Given the description of an element on the screen output the (x, y) to click on. 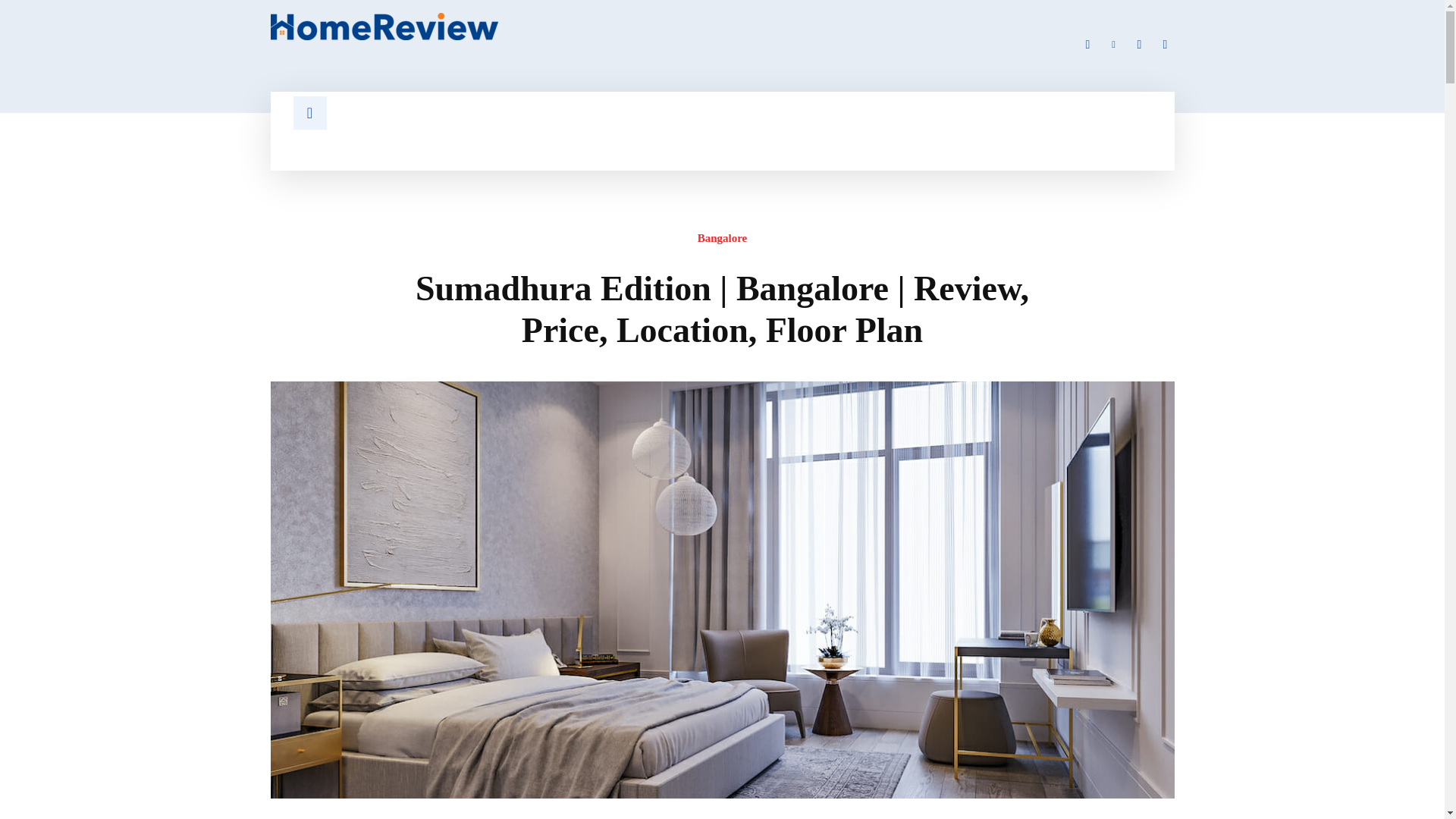
Home Review (486, 26)
Home Review (383, 26)
Facebook (1087, 45)
Bangalore (721, 241)
Linkedin (1112, 45)
Twitter (1138, 45)
Youtube (1164, 45)
